Given the description of an element on the screen output the (x, y) to click on. 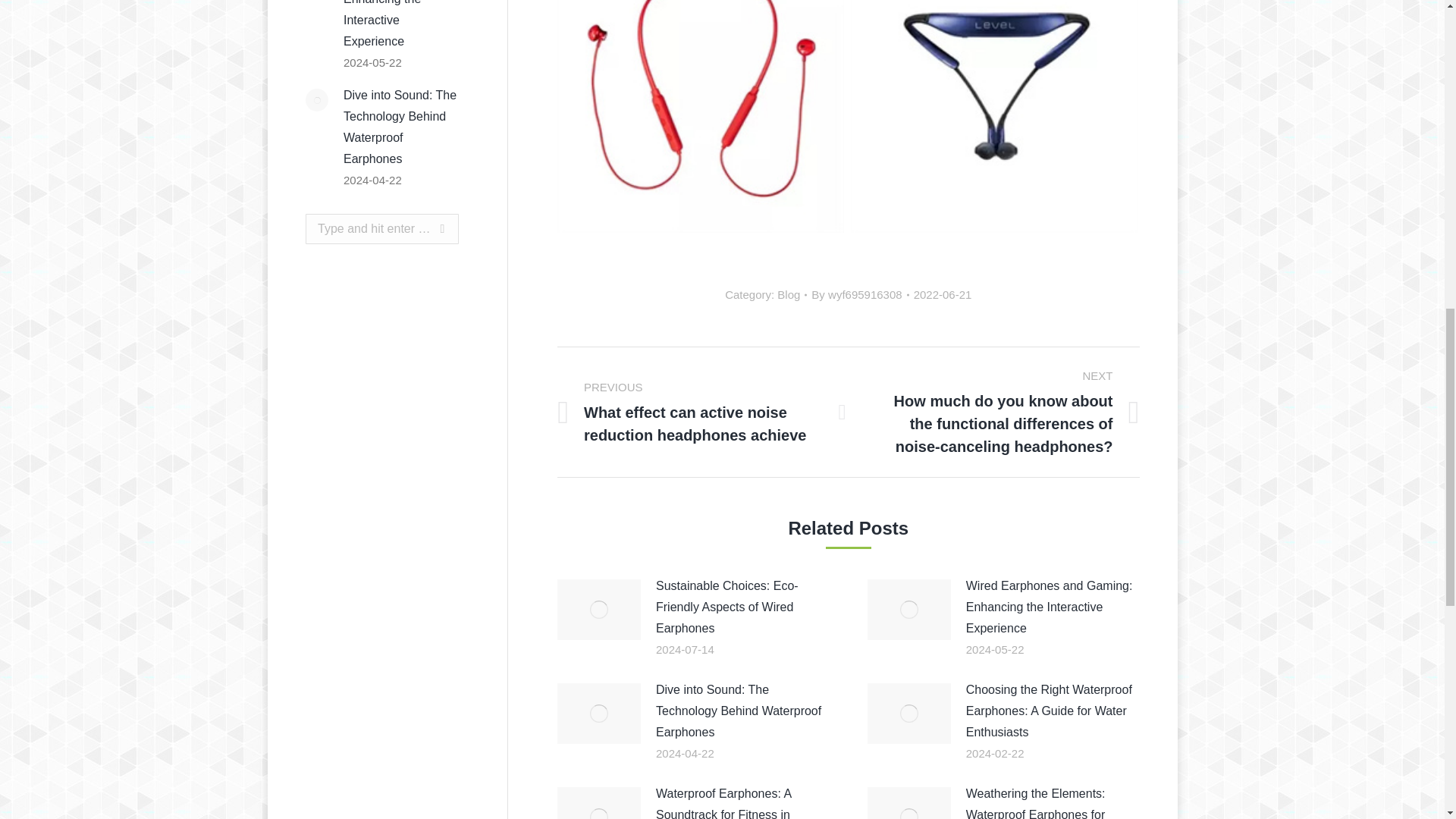
11:54 (943, 294)
View all posts by wyf695916308 (859, 294)
Go! (428, 228)
Go! (428, 228)
